Given the description of an element on the screen output the (x, y) to click on. 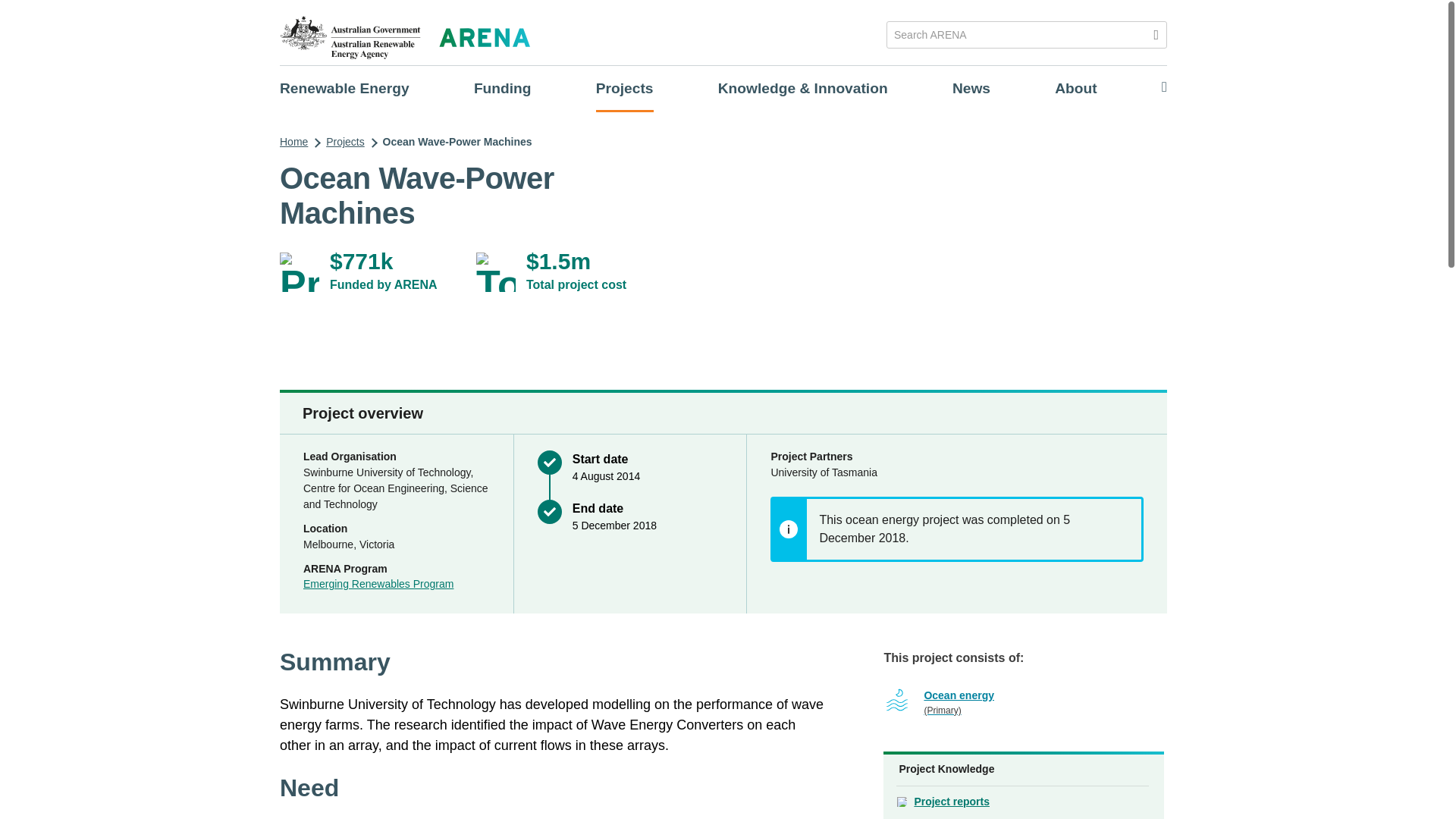
What is renewable energy (344, 88)
News (971, 88)
Projects (624, 88)
Renewable Energy (344, 88)
Funding (502, 88)
About (1075, 88)
